Given the description of an element on the screen output the (x, y) to click on. 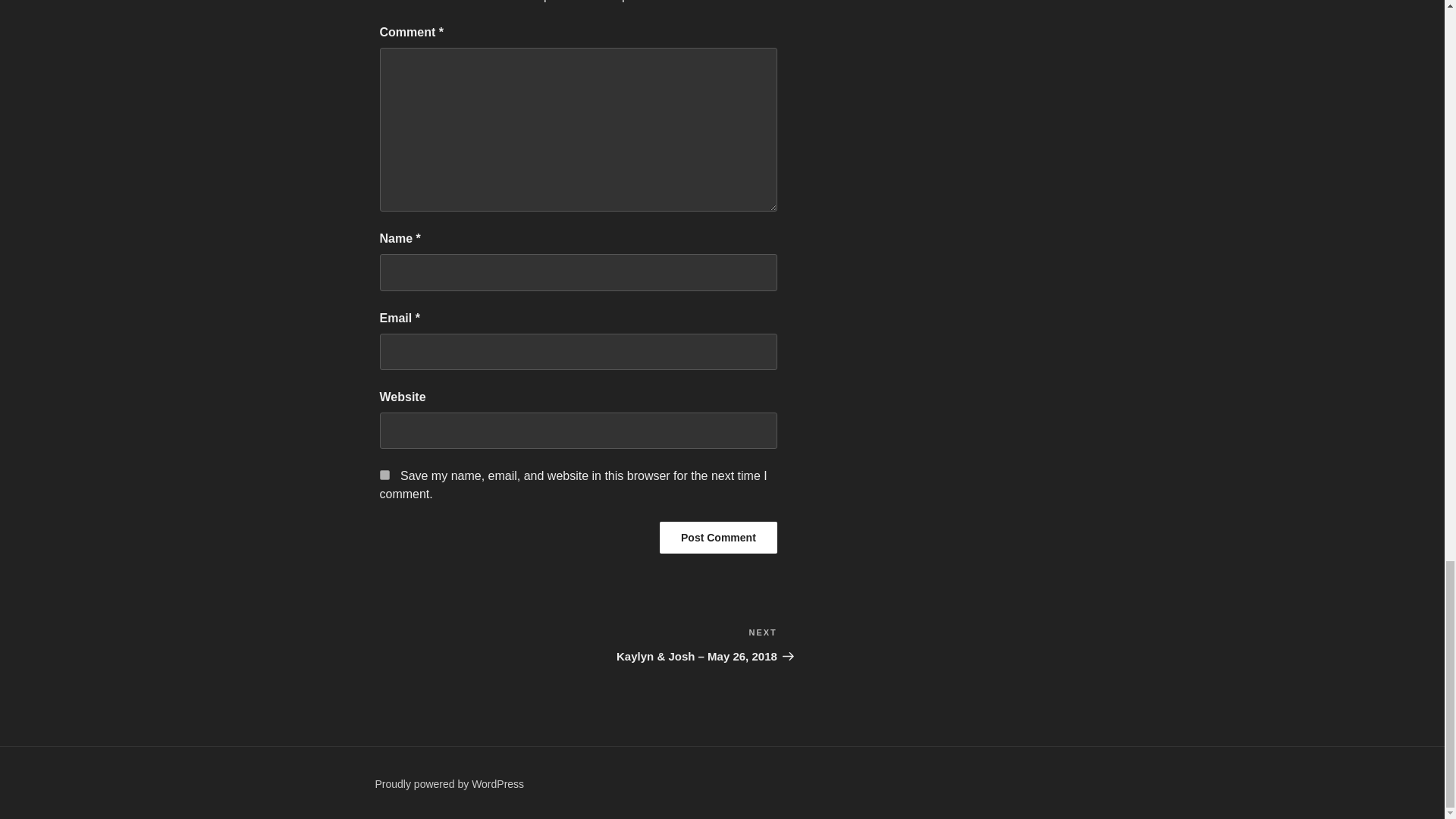
Post Comment (718, 537)
yes (383, 474)
Post Comment (718, 537)
Proudly powered by WordPress (449, 784)
